Given the description of an element on the screen output the (x, y) to click on. 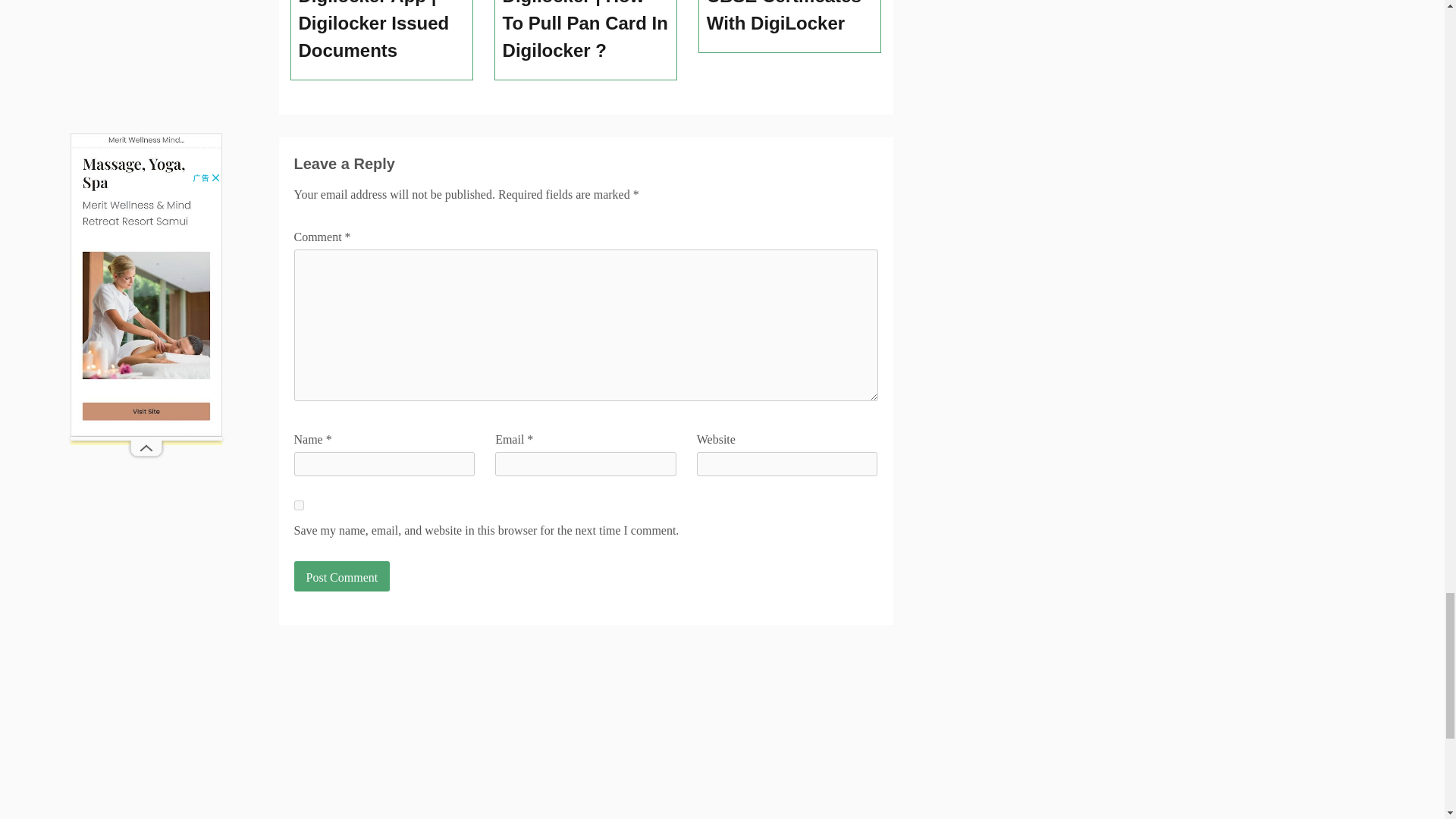
Post Comment (342, 576)
yes (299, 505)
Post Comment (342, 576)
